Given the description of an element on the screen output the (x, y) to click on. 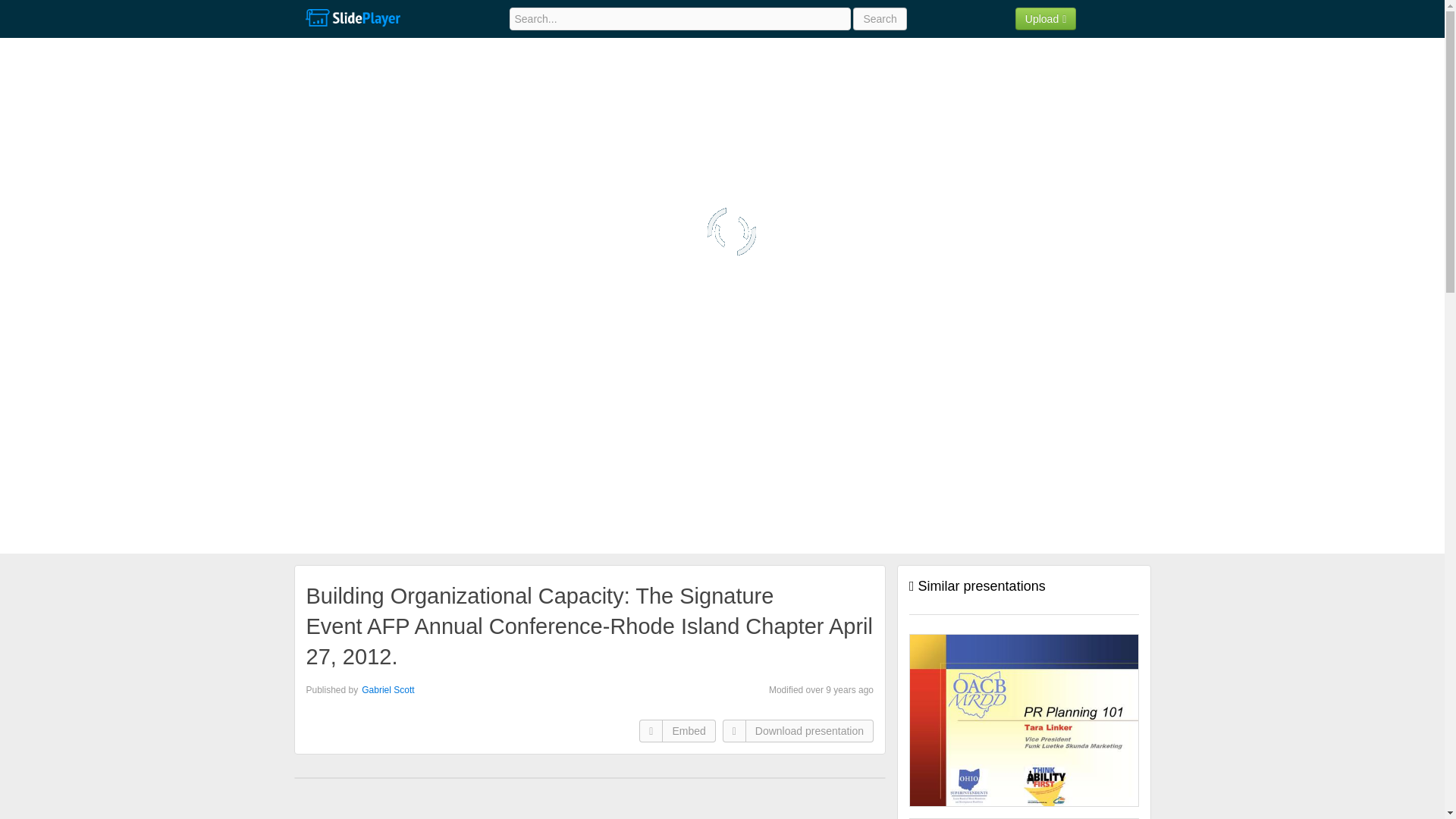
Gabriel Scott (387, 689)
Presentation is loading. Please wait. (731, 232)
Search (879, 18)
SlidePlayer (352, 18)
Upload (1045, 18)
